Given the description of an element on the screen output the (x, y) to click on. 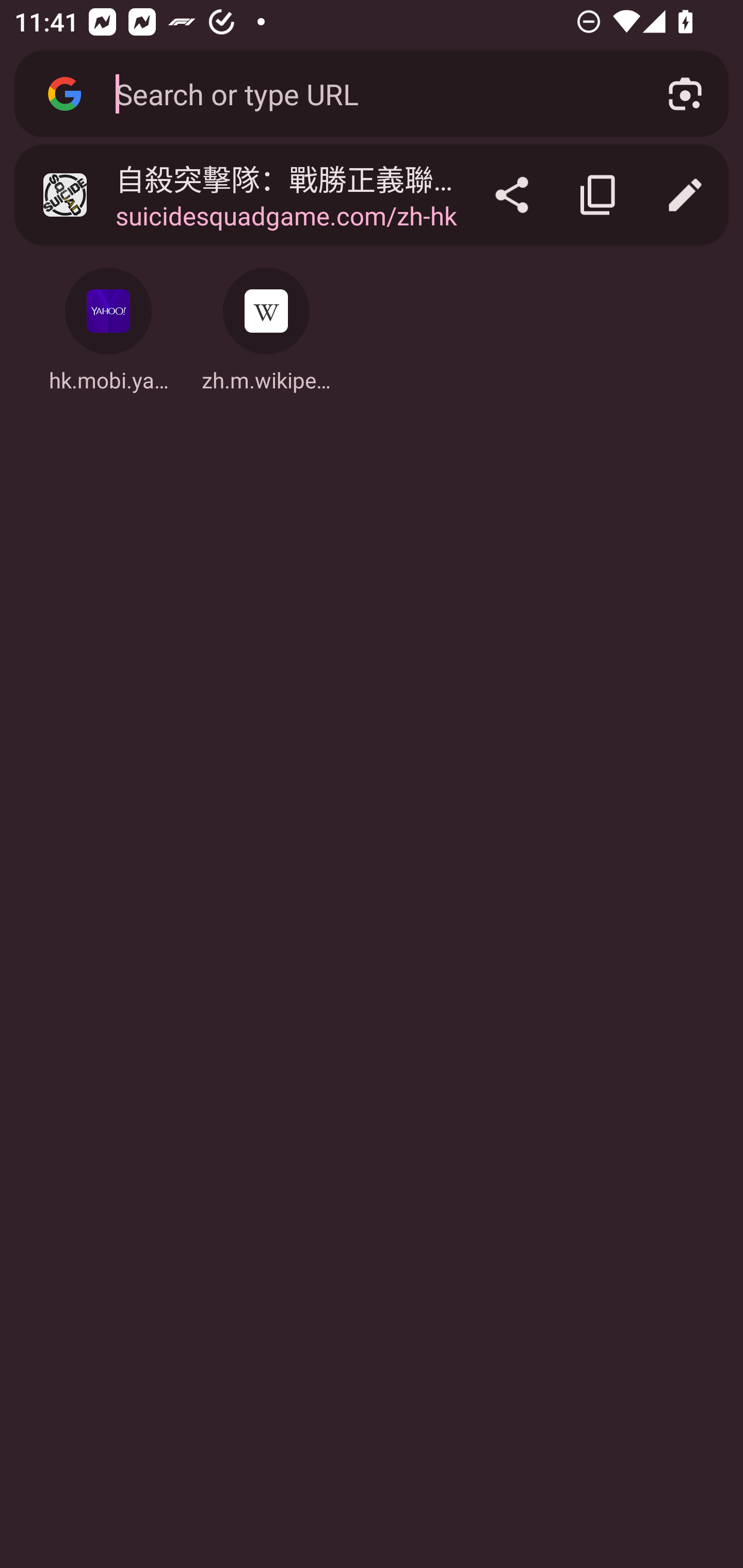
Search with your camera using Google Lens (684, 93)
Search or type URL (367, 92)
Share… (511, 195)
Copy link (598, 195)
Edit (684, 195)
